Given the description of an element on the screen output the (x, y) to click on. 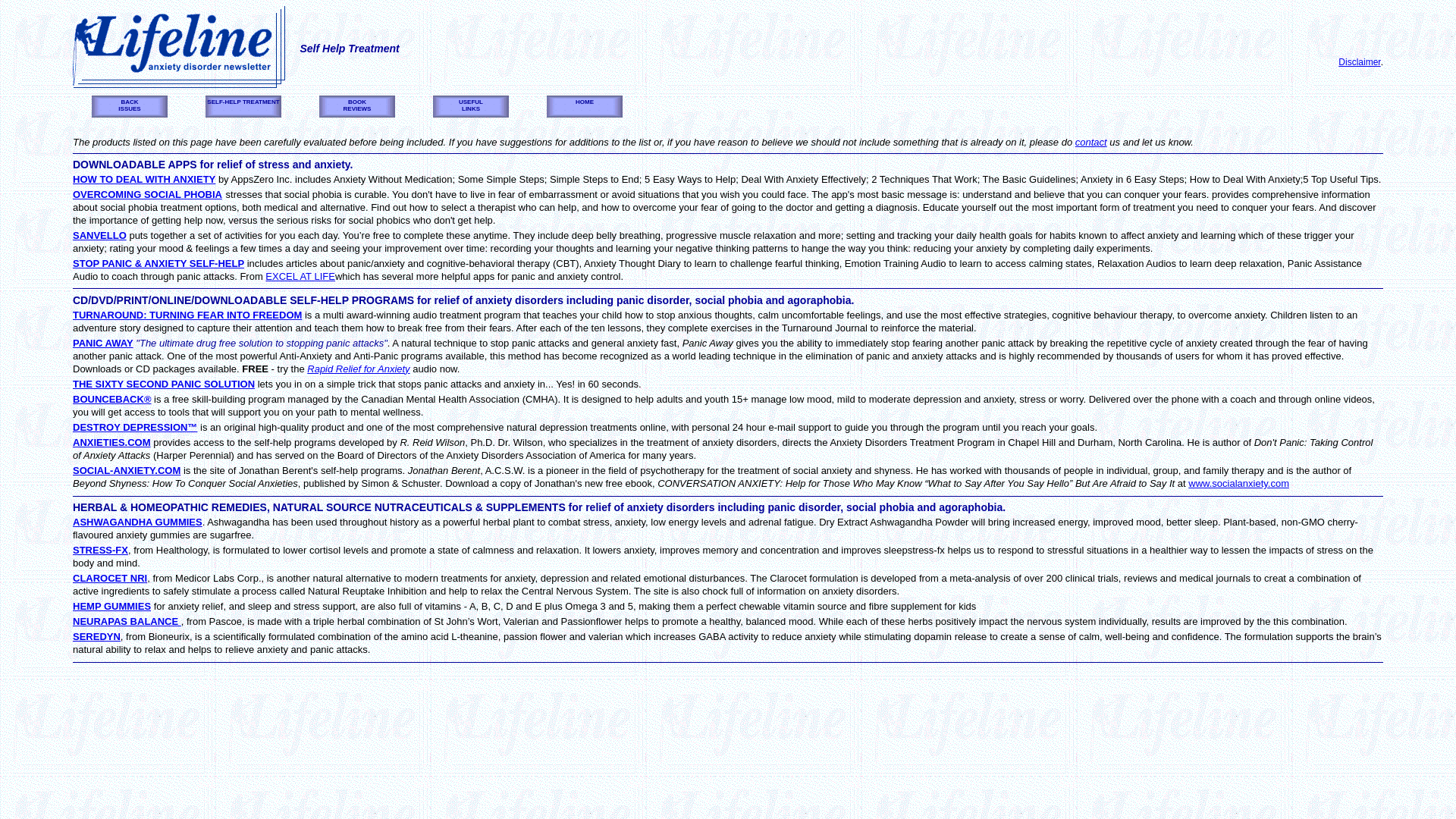
OVERCOMING SOCIAL PHOBIA (147, 194)
SEREDYN (96, 636)
HOW TO DEAL WITH ANXIETY (356, 106)
Rapid Relief for Anxiety (143, 179)
THE SIXTY SECOND PANIC SOLUTION (358, 368)
EXCEL AT LIFE (163, 383)
STRESS-FX (299, 276)
SELF-HELP TREATMENT (100, 550)
